Given the description of an element on the screen output the (x, y) to click on. 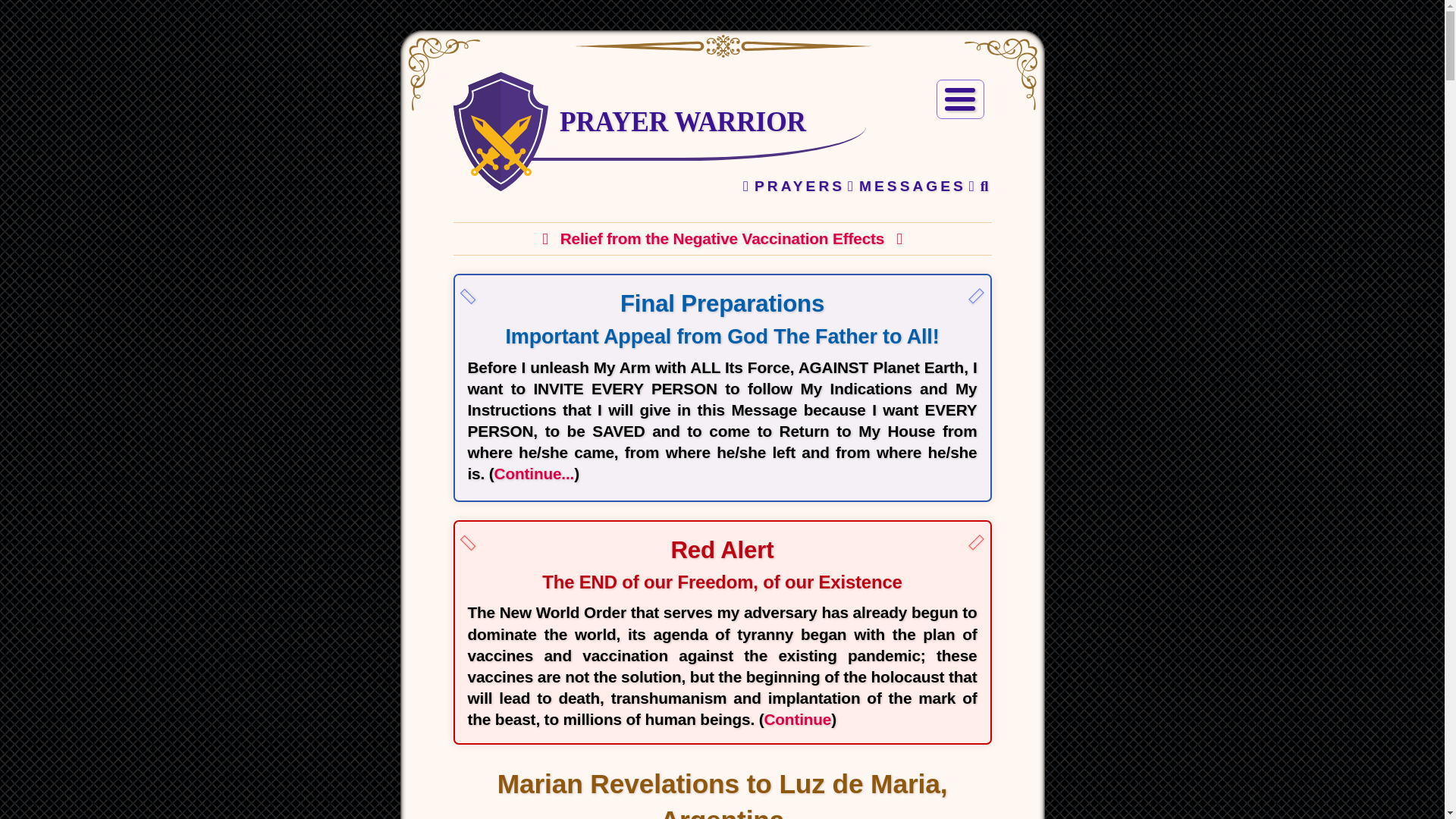
Search the Messages (978, 186)
PRAYER WARRIOR (682, 122)
